Given the description of an element on the screen output the (x, y) to click on. 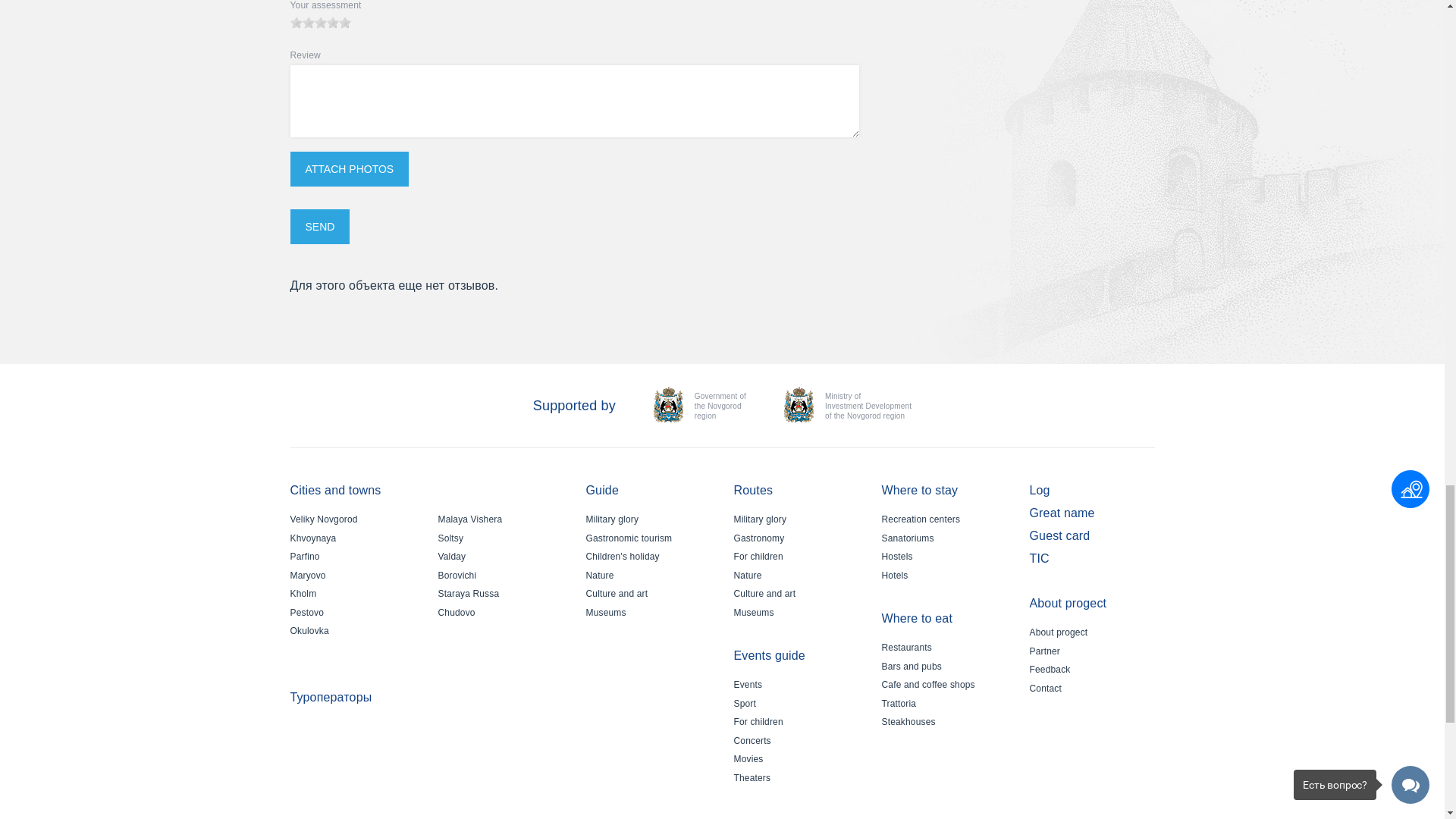
Send (319, 226)
